Given the description of an element on the screen output the (x, y) to click on. 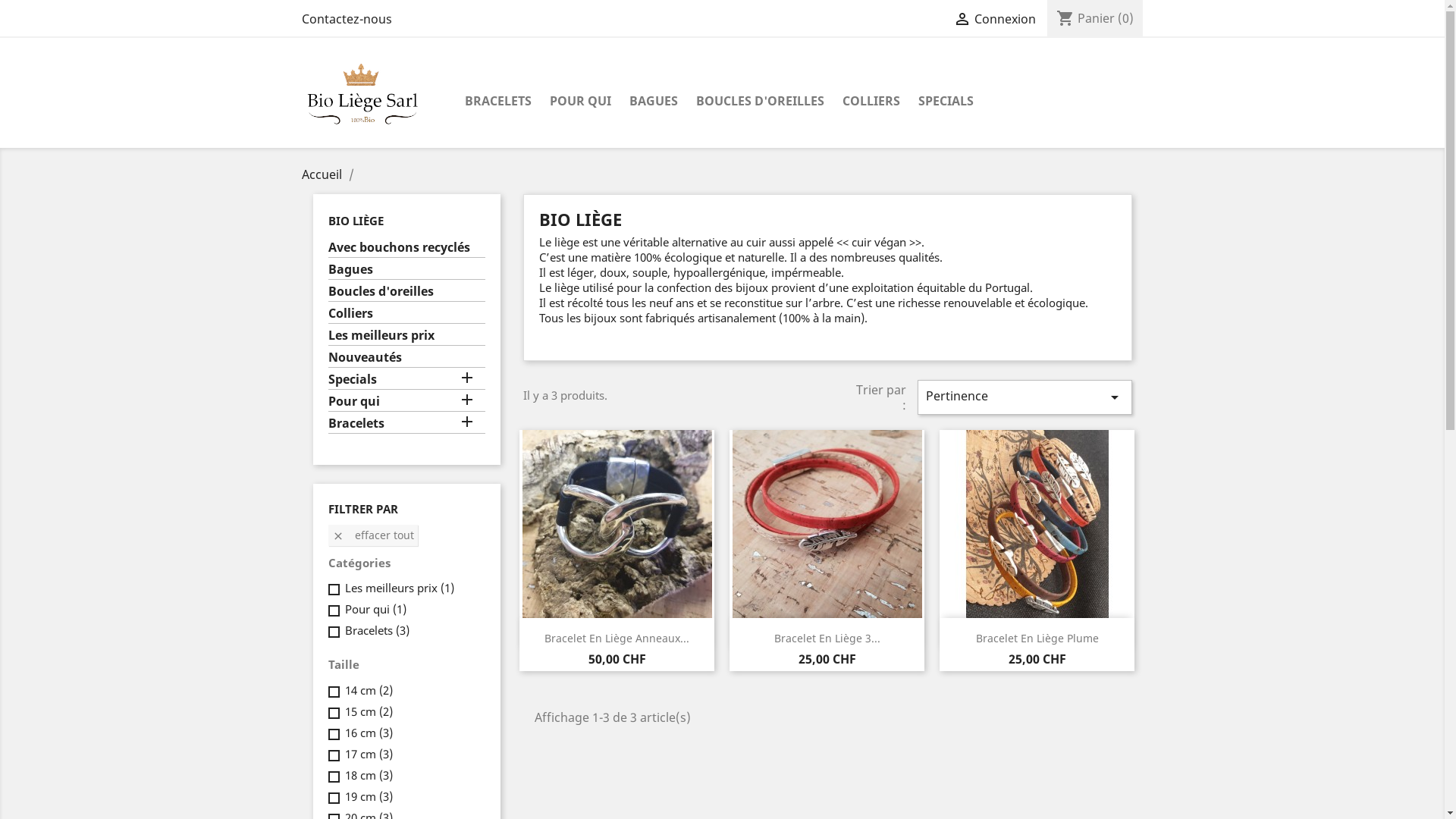
14 cm (2) Element type: text (368, 689)
Pour qui (1) Element type: text (374, 608)
18 cm (3) Element type: text (368, 774)
Bagues Element type: text (406, 270)
Colliers Element type: text (406, 314)
BAGUES Element type: text (653, 101)
Contactez-nous Element type: text (346, 18)
19 cm (3) Element type: text (368, 795)
Specials Element type: text (406, 380)
BRACELETS Element type: text (497, 101)
Les meilleurs prix Element type: text (406, 336)
16 cm (3) Element type: text (368, 732)
15 cm (2) Element type: text (368, 710)
Bracelets (3) Element type: text (376, 629)
POUR QUI Element type: text (579, 101)
SPECIALS Element type: text (945, 101)
BOUCLES D'OREILLES Element type: text (759, 101)
Accueil Element type: text (323, 174)
Boucles d'oreilles Element type: text (406, 292)
COLLIERS Element type: text (870, 101)
Les meilleurs prix (1) Element type: text (398, 587)
Bracelets Element type: text (406, 424)
Pour qui Element type: text (406, 402)
17 cm (3) Element type: text (368, 753)
